Given the description of an element on the screen output the (x, y) to click on. 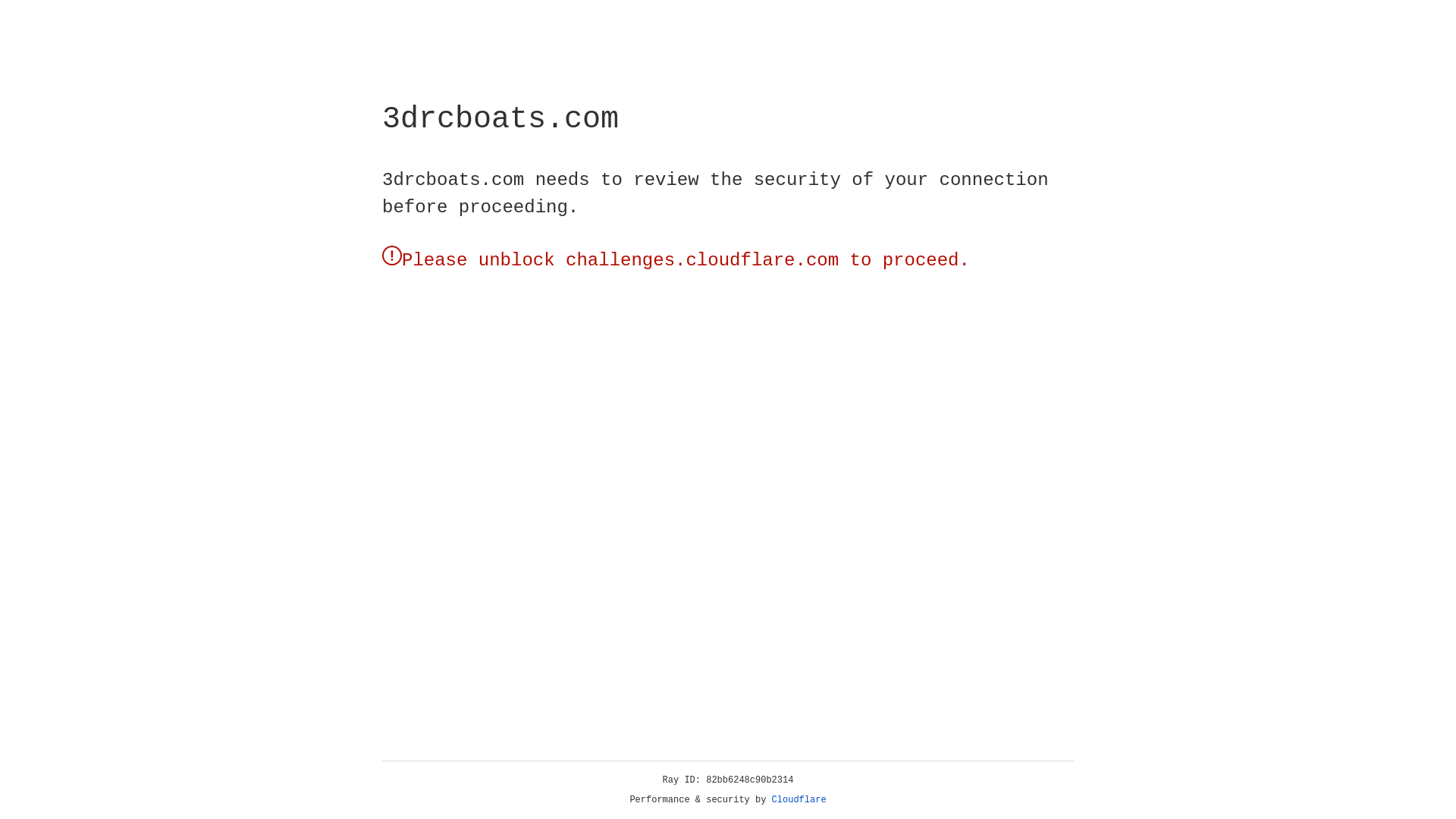
Cloudflare Element type: text (798, 799)
